Given the description of an element on the screen output the (x, y) to click on. 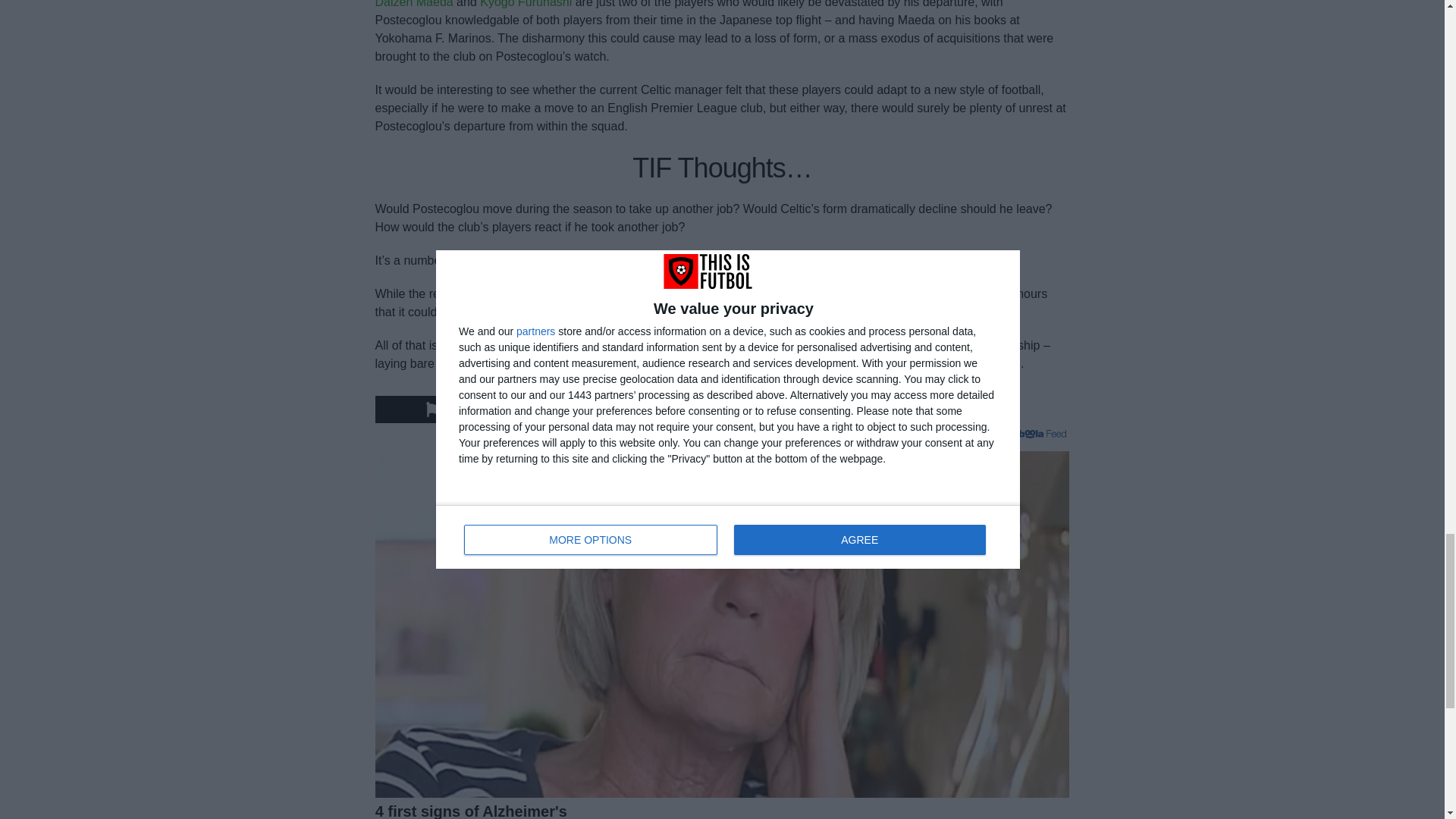
4 first signs of Alzheimer's (722, 810)
